Given the description of an element on the screen output the (x, y) to click on. 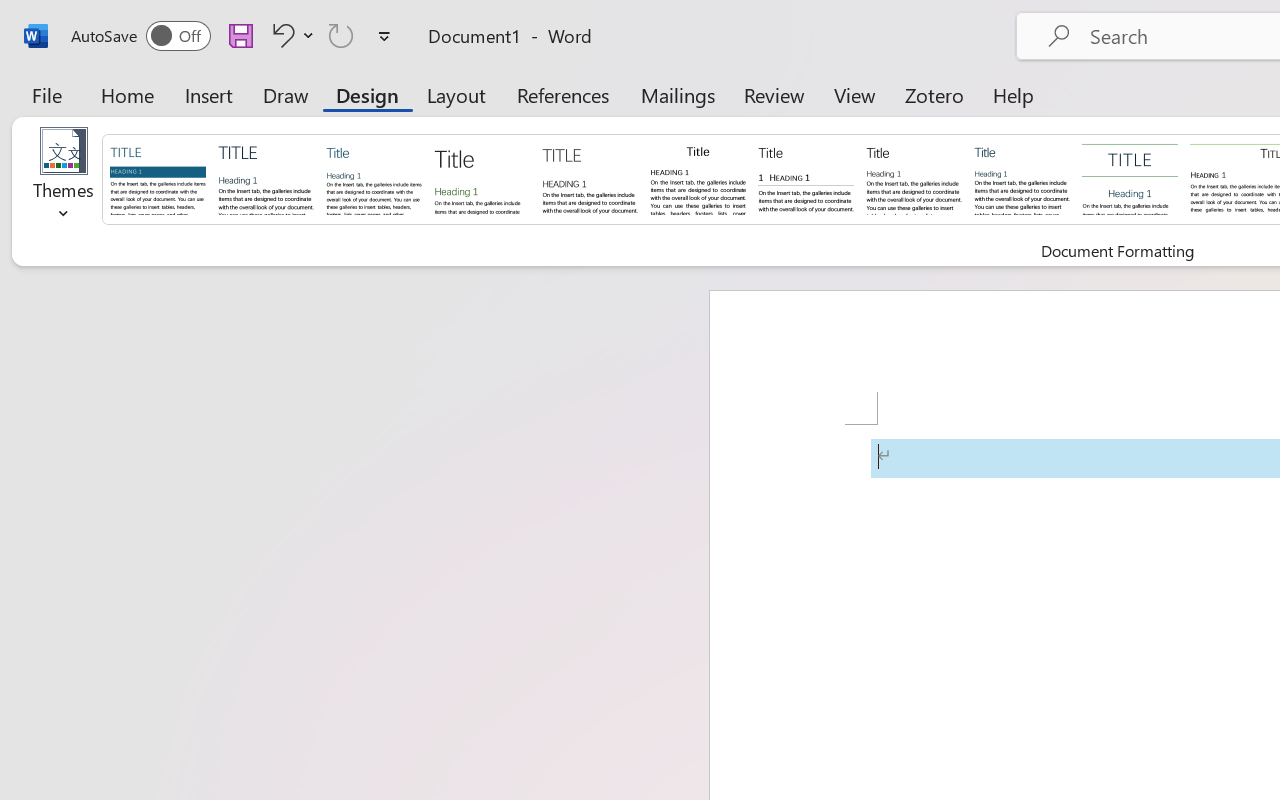
Casual (1021, 178)
Basic (Stylish) (481, 178)
